Given the description of an element on the screen output the (x, y) to click on. 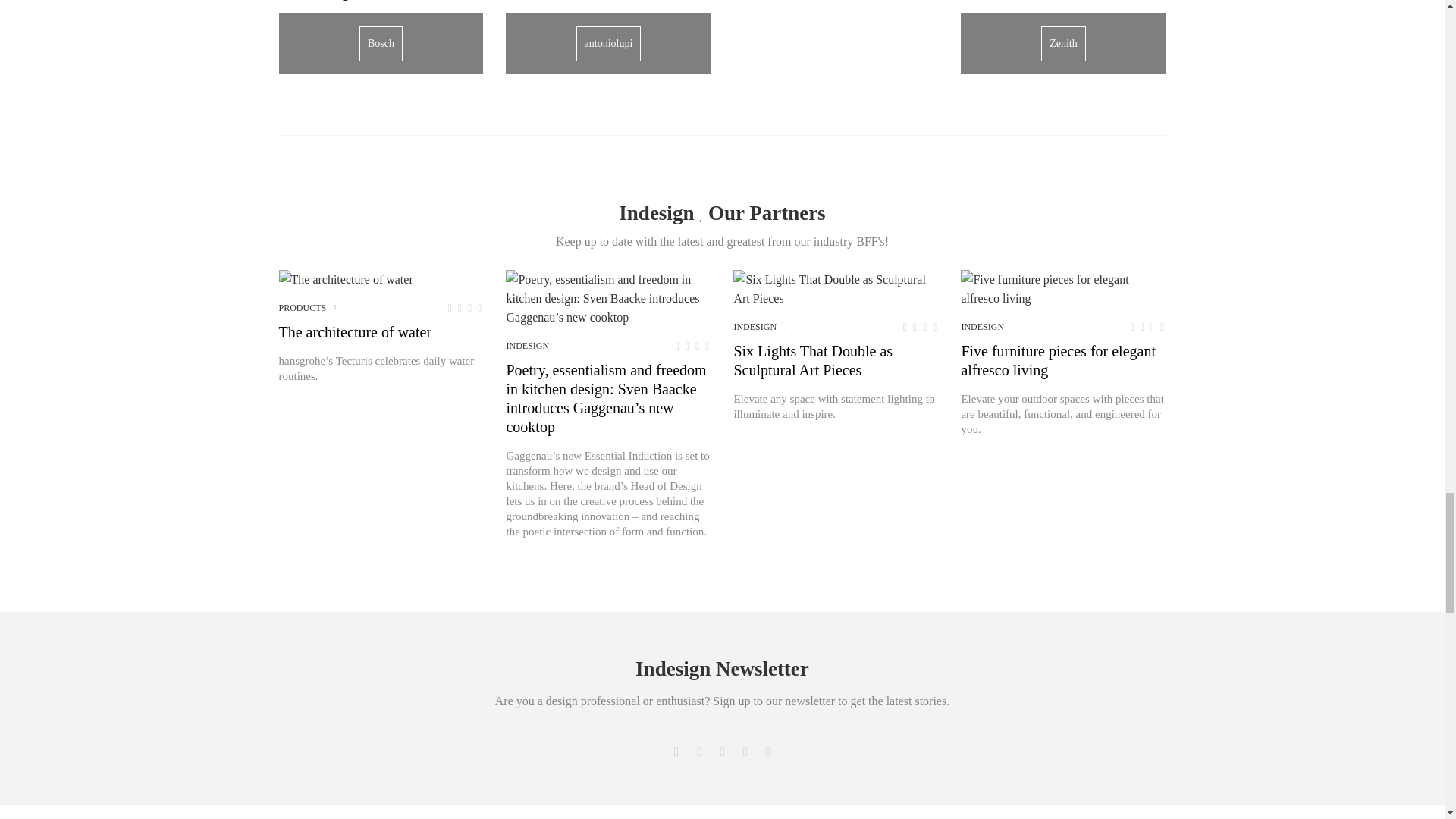
Five furniture pieces for elegant alfresco living (1063, 288)
Six Lights That Double as Sculptural Art Pieces (835, 288)
The architecture of water (346, 279)
